Given the description of an element on the screen output the (x, y) to click on. 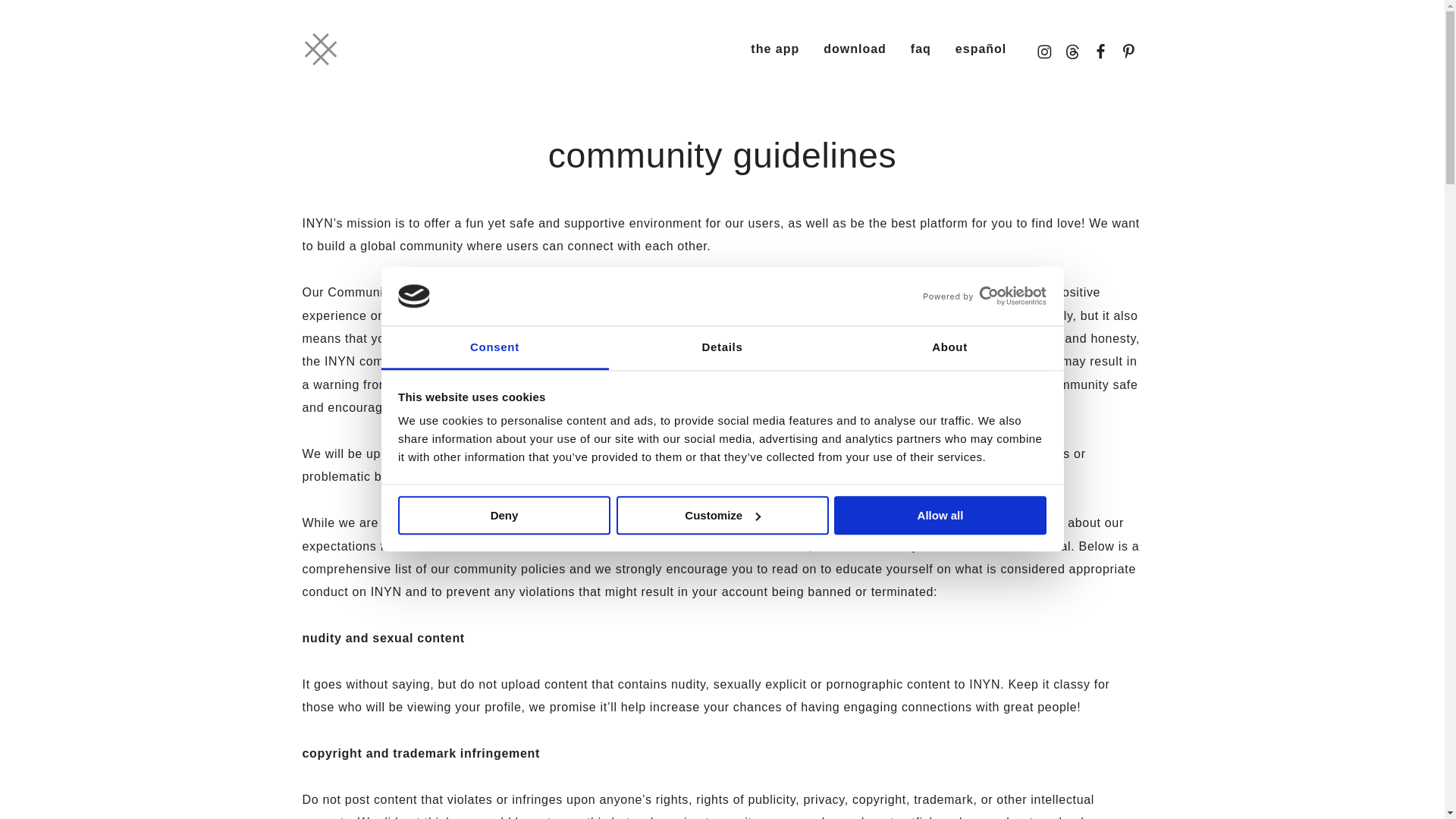
Deny (503, 515)
the app (775, 48)
Allow all (940, 515)
Customize (721, 515)
Consent (494, 348)
About (948, 348)
download (855, 48)
faq (921, 48)
Details (721, 348)
